Given the description of an element on the screen output the (x, y) to click on. 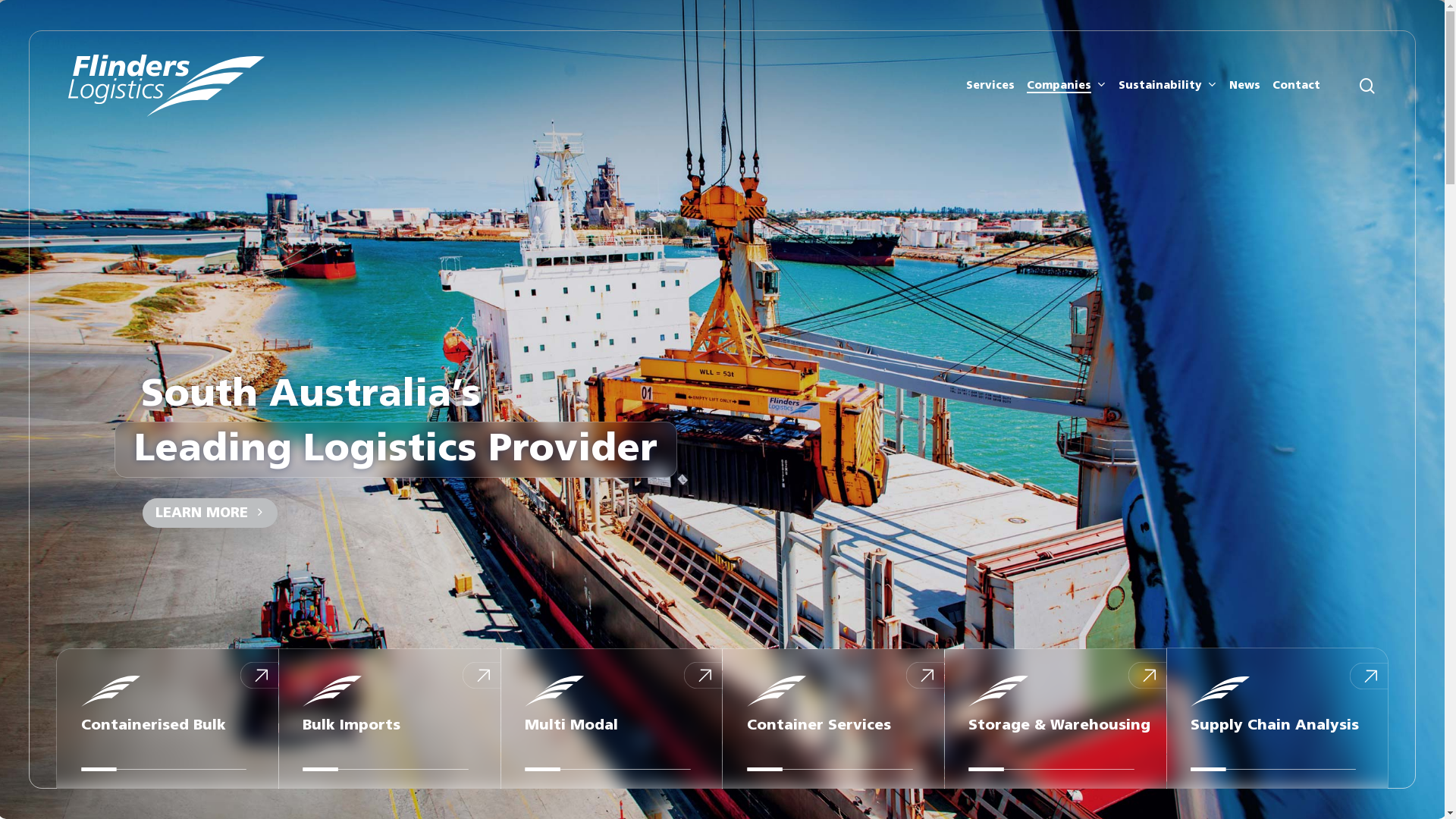
Companies Element type: text (1066, 85)
LEARN MORE Element type: text (209, 512)
Sustainability Element type: text (1167, 85)
Contact Element type: text (1296, 85)
LEARN MORE Element type: text (206, 511)
search Element type: text (1367, 85)
News Element type: text (1244, 85)
Services Element type: text (990, 85)
